Given the description of an element on the screen output the (x, y) to click on. 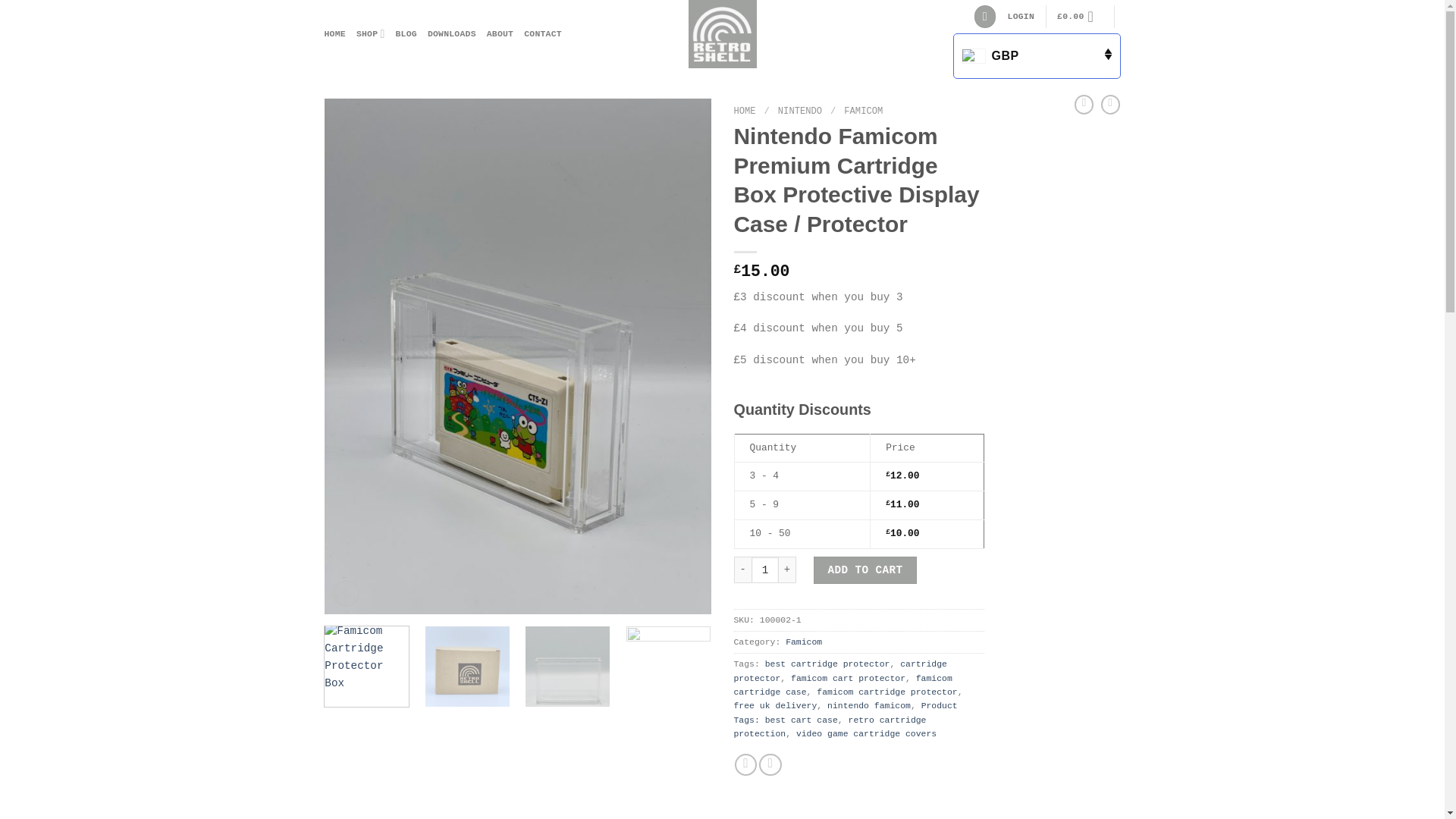
CONTACT (543, 33)
GBP (1035, 55)
ABOUT (499, 33)
DOWNLOADS (452, 33)
1 (764, 569)
Cart (1079, 16)
LOGIN (1020, 16)
SHOP (370, 33)
